Given the description of an element on the screen output the (x, y) to click on. 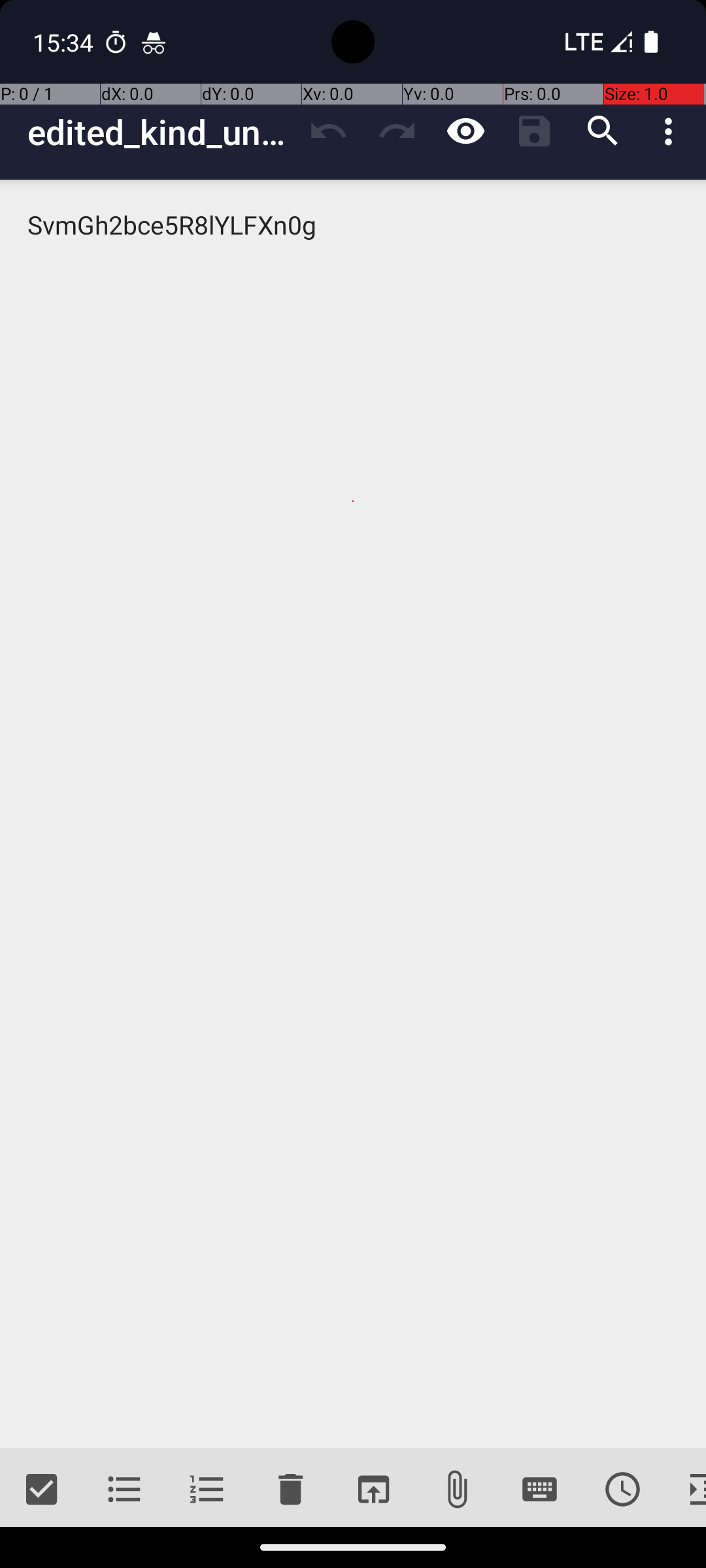
edited_kind_unicorn Element type: android.widget.TextView (160, 131)
SvmGh2bce5R8lYLFXn0g
 Element type: android.widget.EditText (353, 813)
Chrome notification: Incognito Tabs Element type: android.widget.ImageView (153, 41)
